Given the description of an element on the screen output the (x, y) to click on. 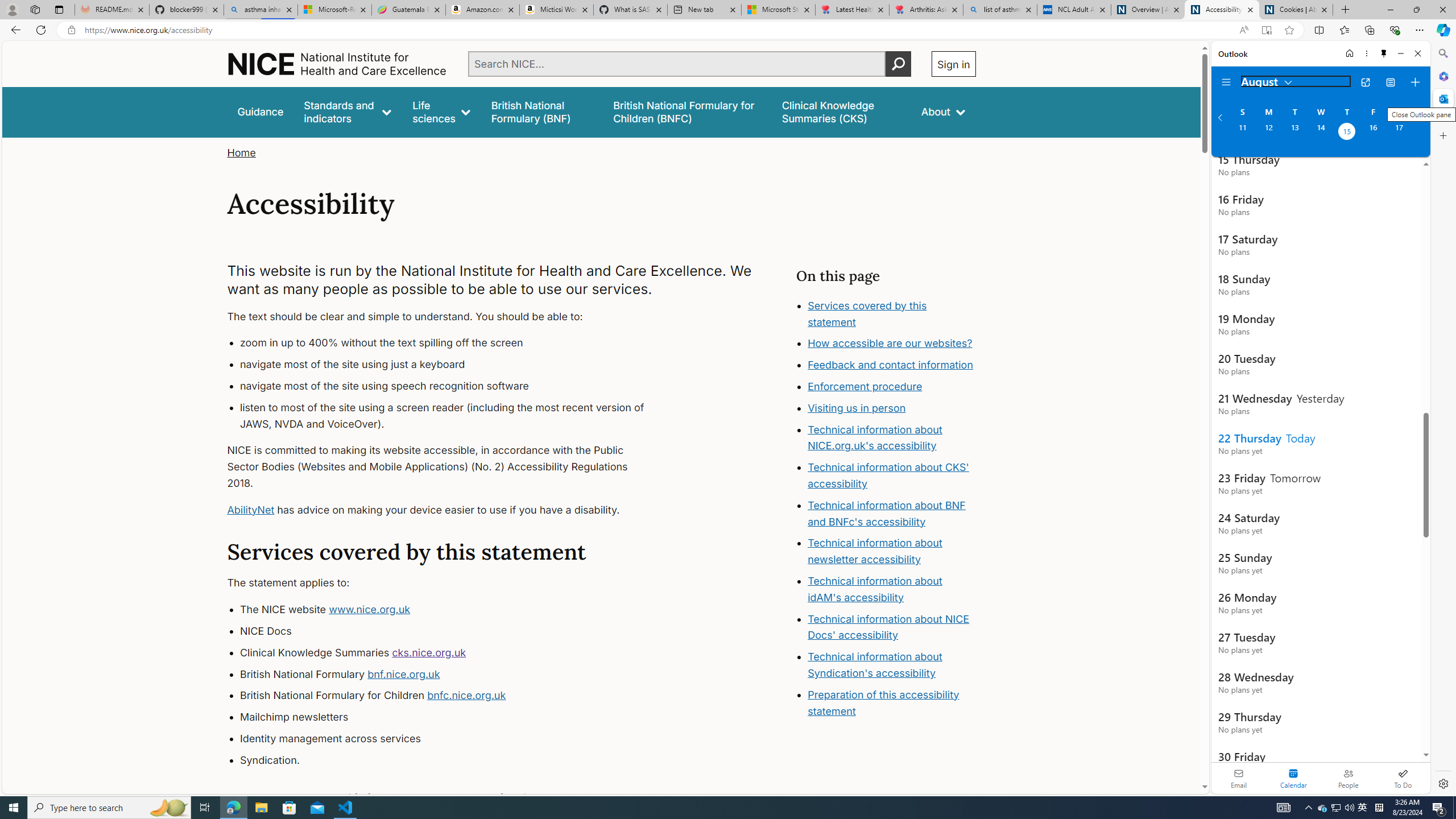
Preparation of this accessibility statement (883, 702)
asthma inhaler - Search (260, 9)
How accessible are our websites? (891, 343)
Identity management across services (452, 738)
Accessibility | NICE (1221, 9)
Services covered by this statement (891, 313)
